Given the description of an element on the screen output the (x, y) to click on. 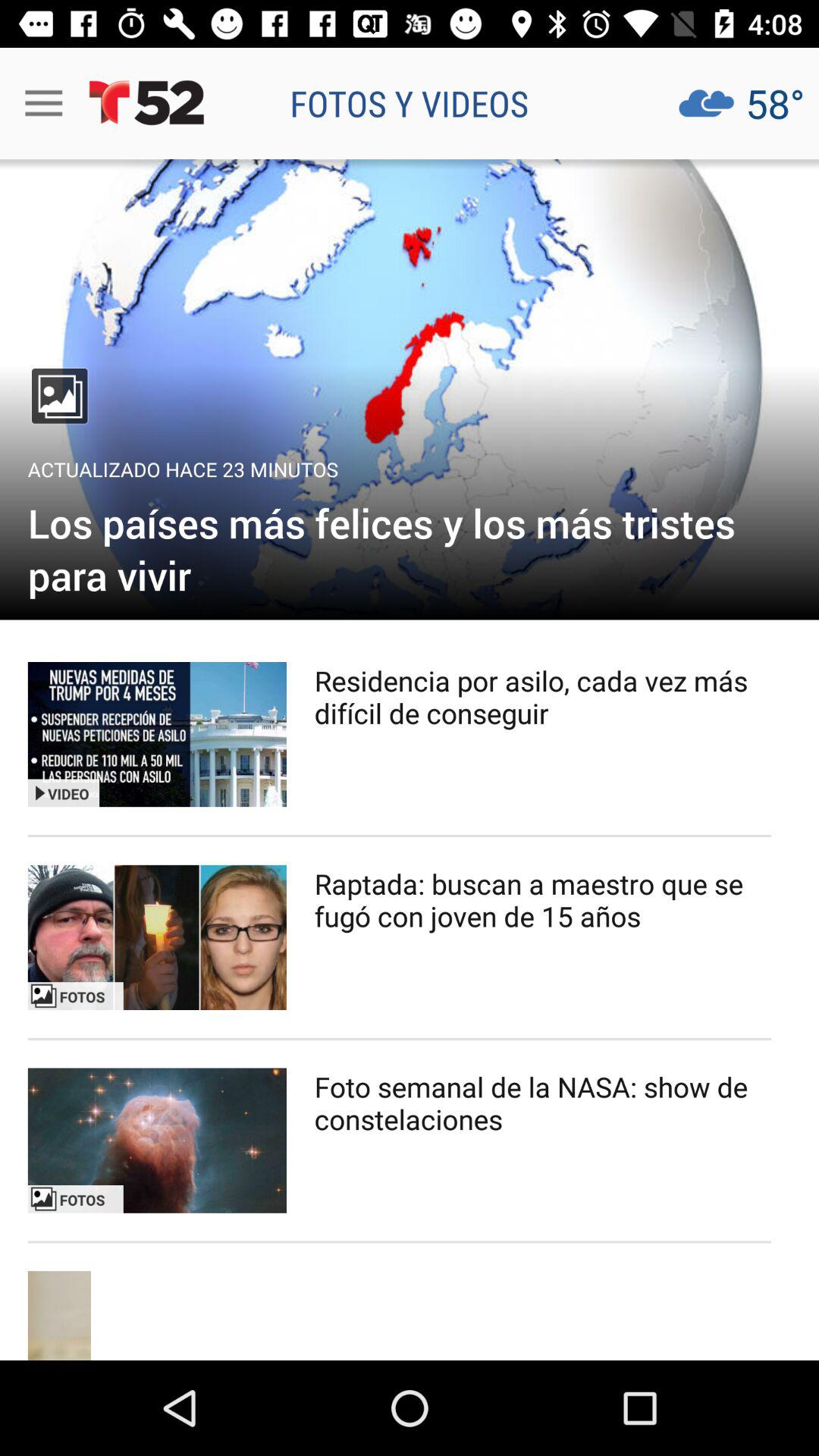
link to watch video (156, 937)
